Given the description of an element on the screen output the (x, y) to click on. 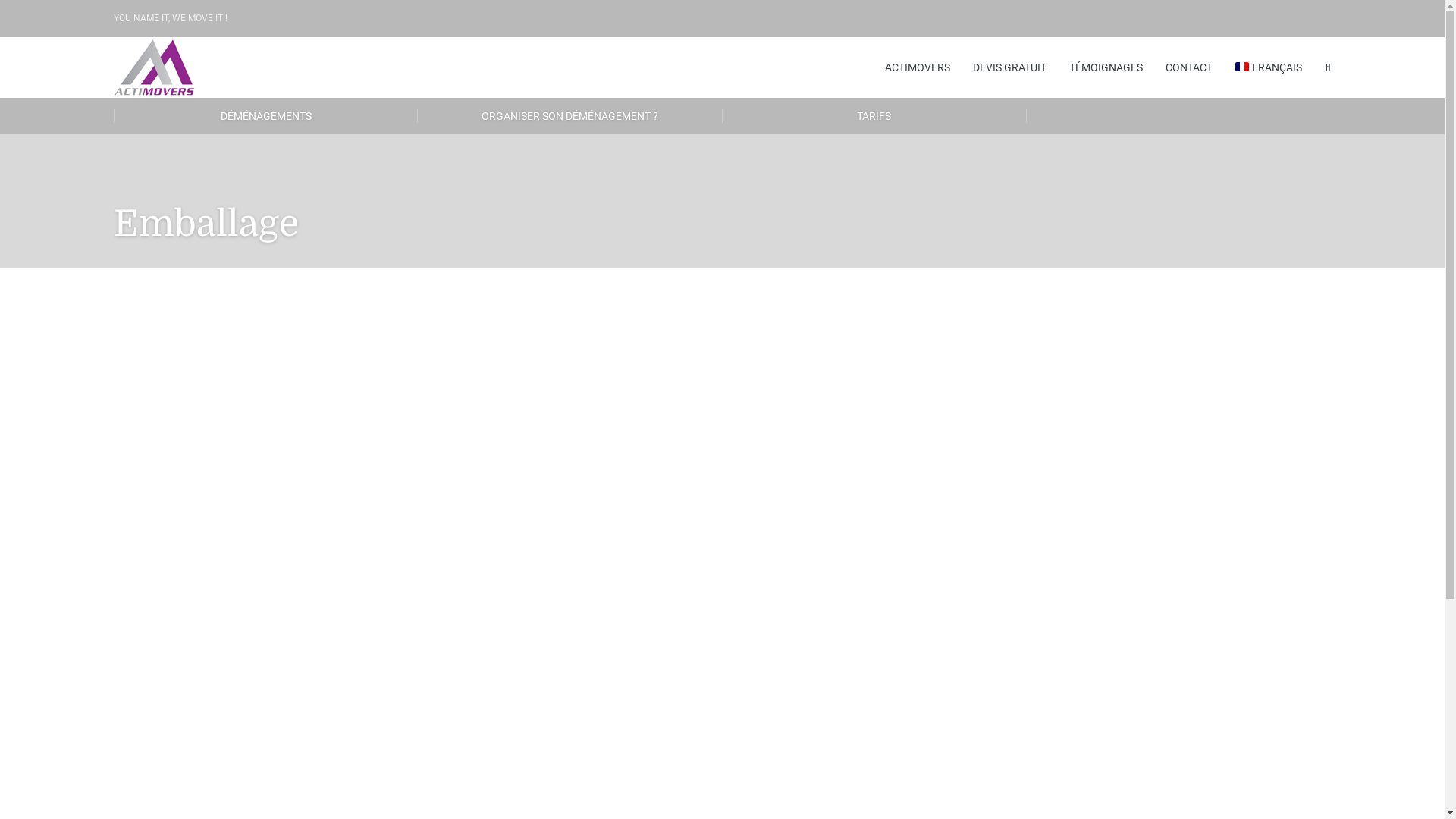
CONTACT Element type: text (1188, 67)
ACTIMOVERS Element type: text (917, 67)
TARIFS Element type: text (873, 115)
DEVIS GRATUIT Element type: text (1009, 67)
